Given the description of an element on the screen output the (x, y) to click on. 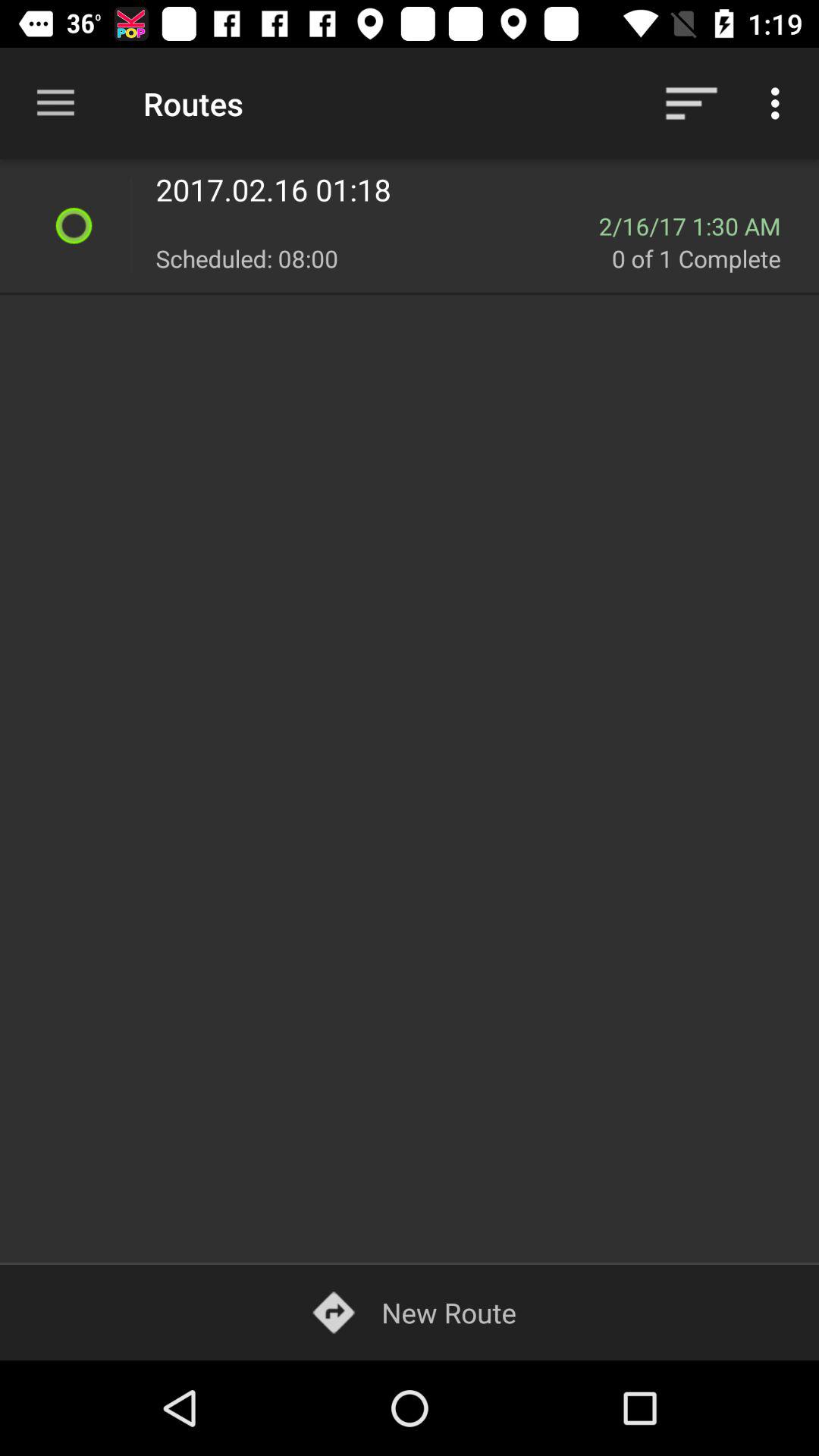
open item next to the routes (691, 103)
